Given the description of an element on the screen output the (x, y) to click on. 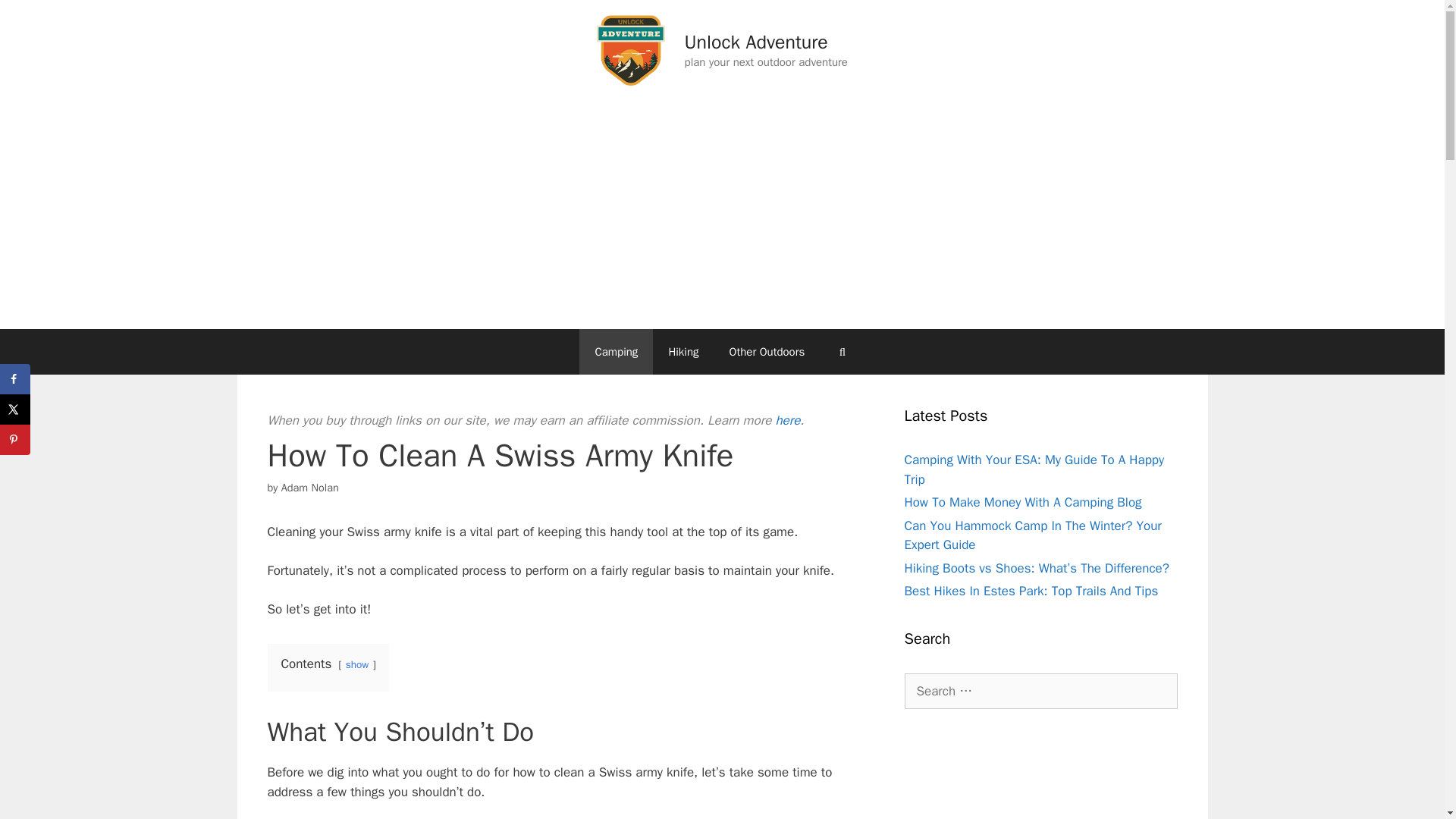
Camping With Your ESA: My Guide To A Happy Trip (1033, 469)
View all posts by Adam Nolan (310, 487)
Share on Facebook (15, 378)
Can You Hammock Camp In The Winter? Your Expert Guide (1032, 535)
Other Outdoors (767, 351)
Adam Nolan (310, 487)
How To Make Money With A Camping Blog (1022, 502)
Search (35, 18)
Hiking (682, 351)
Camping (615, 351)
Search for: (1040, 691)
Share on X (15, 409)
show (357, 664)
Best Hikes In Estes Park: Top Trails And Tips (1030, 590)
